Given the description of an element on the screen output the (x, y) to click on. 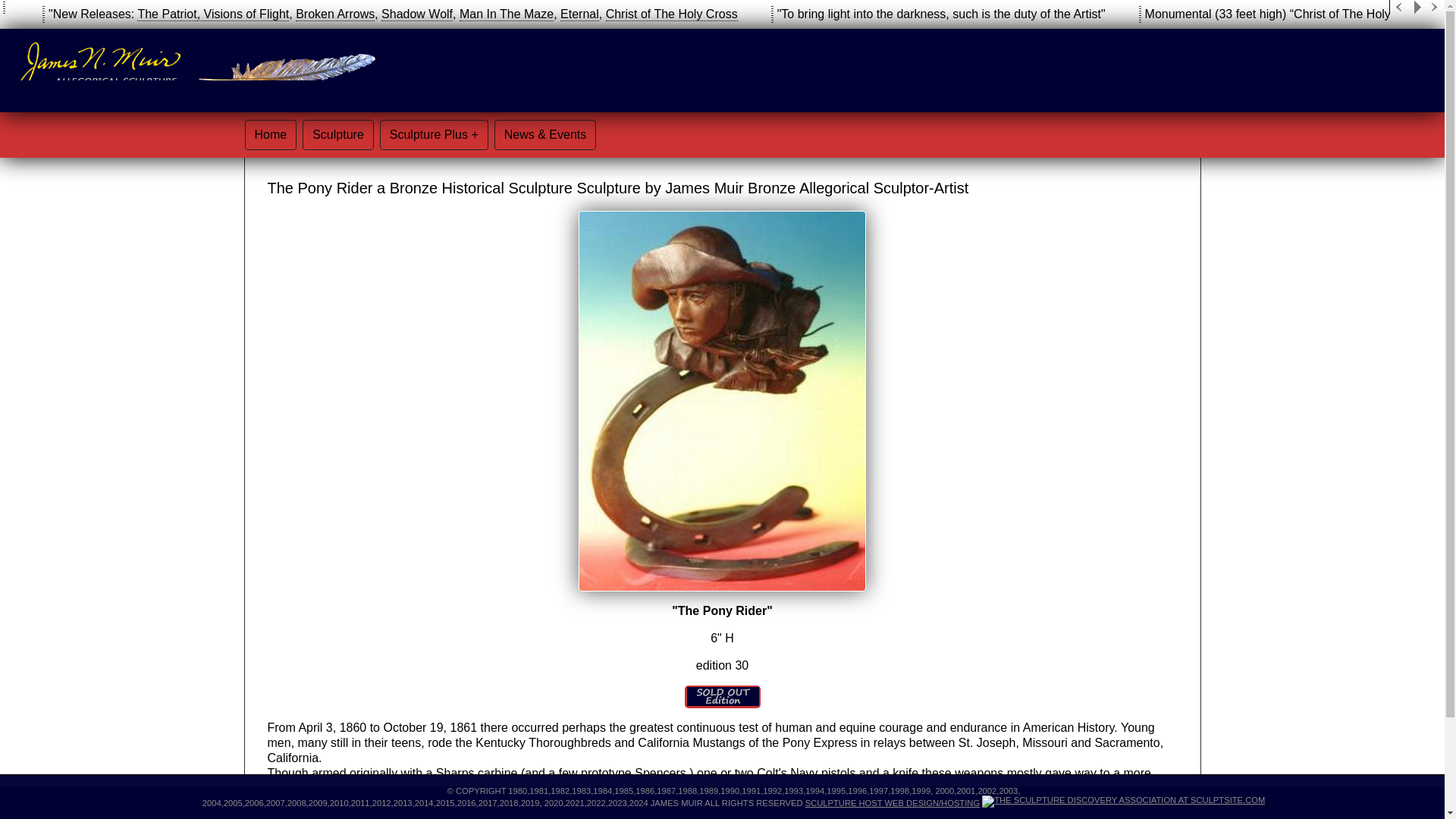
Sculpture (338, 134)
, Visions of Flight (242, 14)
Previous (1398, 7)
Next (1435, 7)
Play (1416, 7)
Broken Arrows (334, 14)
The Patriot (166, 14)
Man In The Maze (506, 14)
Christ of The Holy Cross (671, 14)
The Patriot by James Muir bronze sculptor (166, 14)
